Given the description of an element on the screen output the (x, y) to click on. 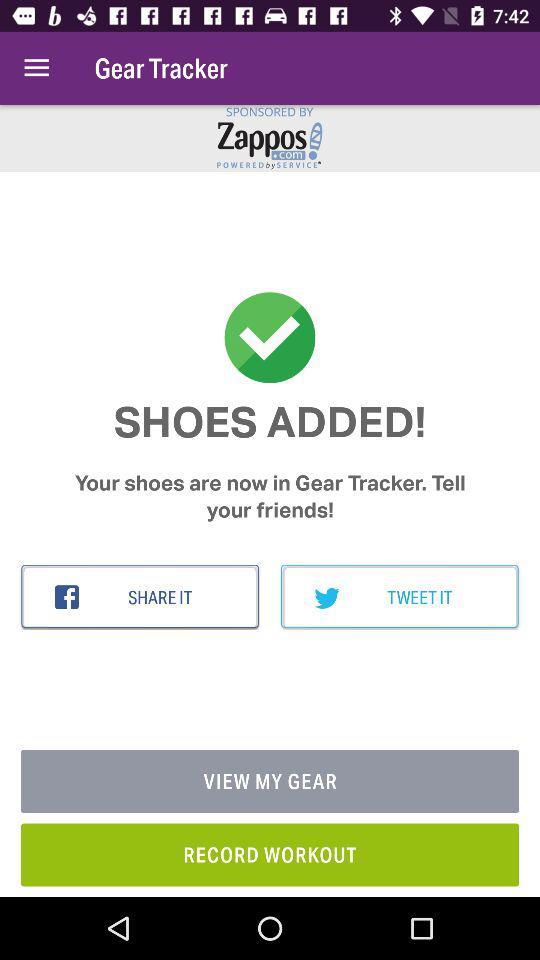
scroll to view my gear (270, 781)
